Given the description of an element on the screen output the (x, y) to click on. 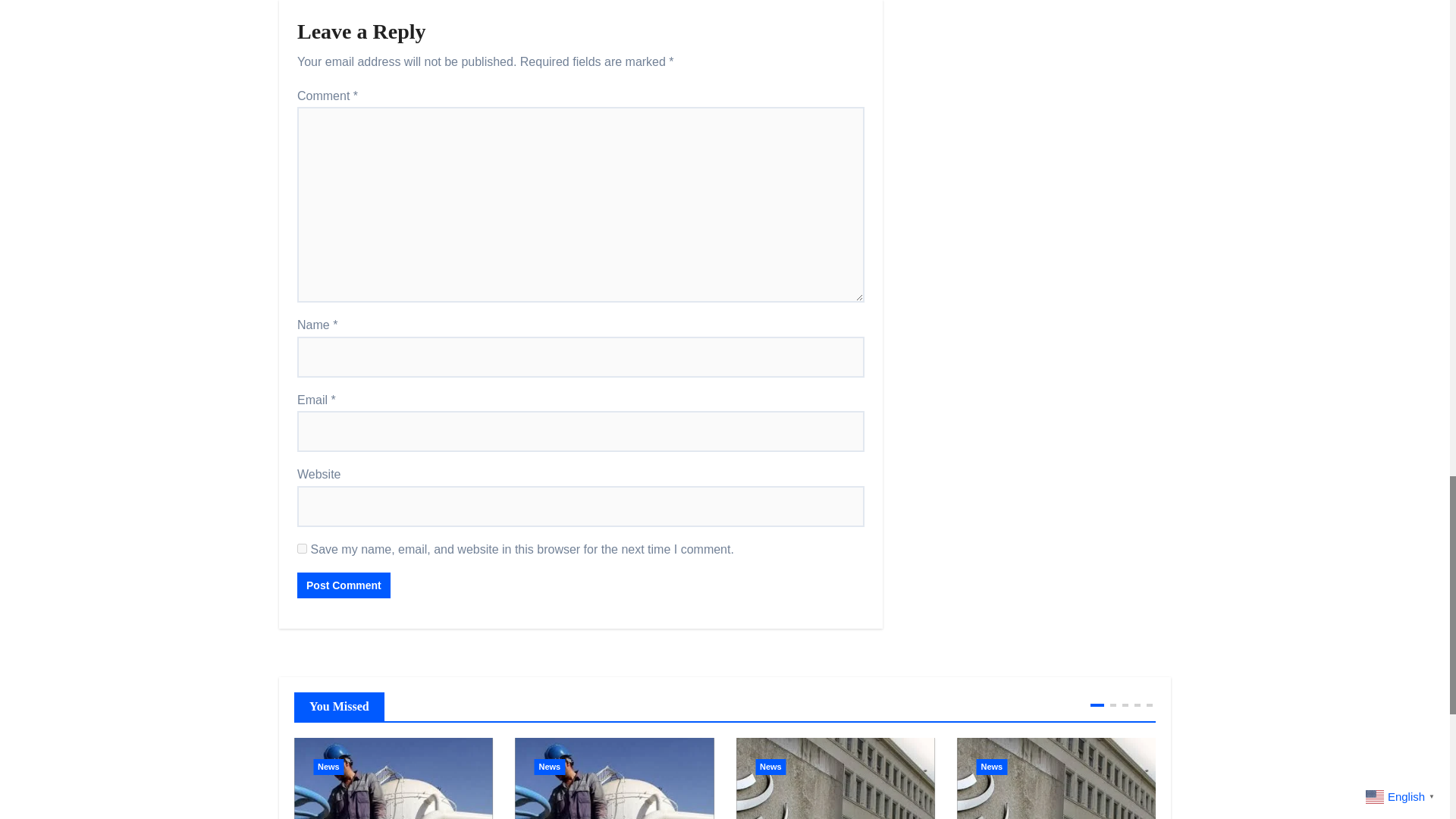
yes (302, 548)
Post Comment (343, 585)
